Given the description of an element on the screen output the (x, y) to click on. 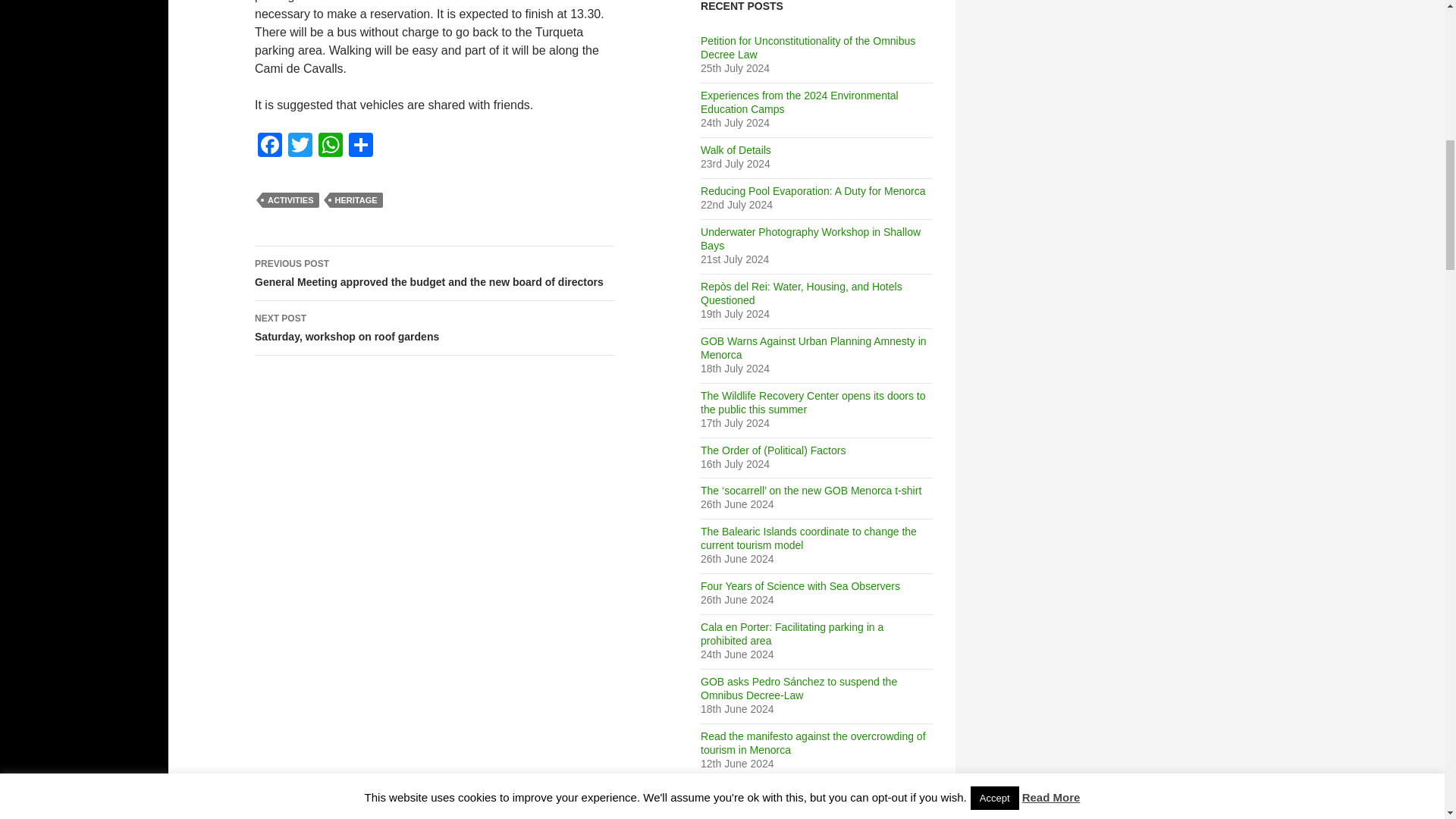
Facebook (269, 146)
WhatsApp (330, 146)
WhatsApp (330, 146)
Twitter (300, 146)
Twitter (300, 146)
Facebook (269, 146)
